Given the description of an element on the screen output the (x, y) to click on. 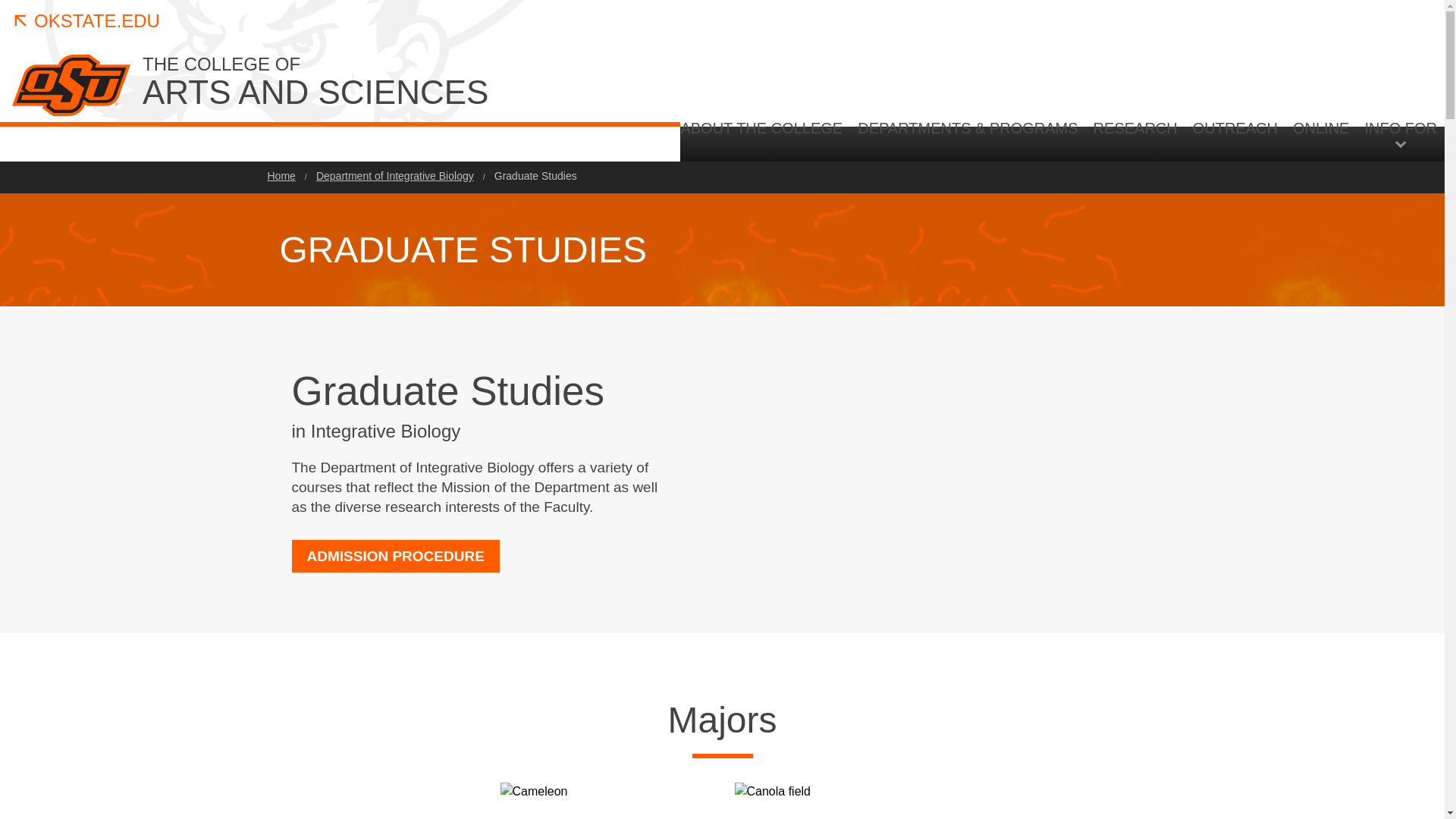
OUTREACH (387, 82)
ABOUT THE COLLEGE (1235, 139)
Search (764, 139)
ONLINE (1315, 267)
OKSTATE.EDU (1320, 139)
RESEARCH (85, 21)
